Given the description of an element on the screen output the (x, y) to click on. 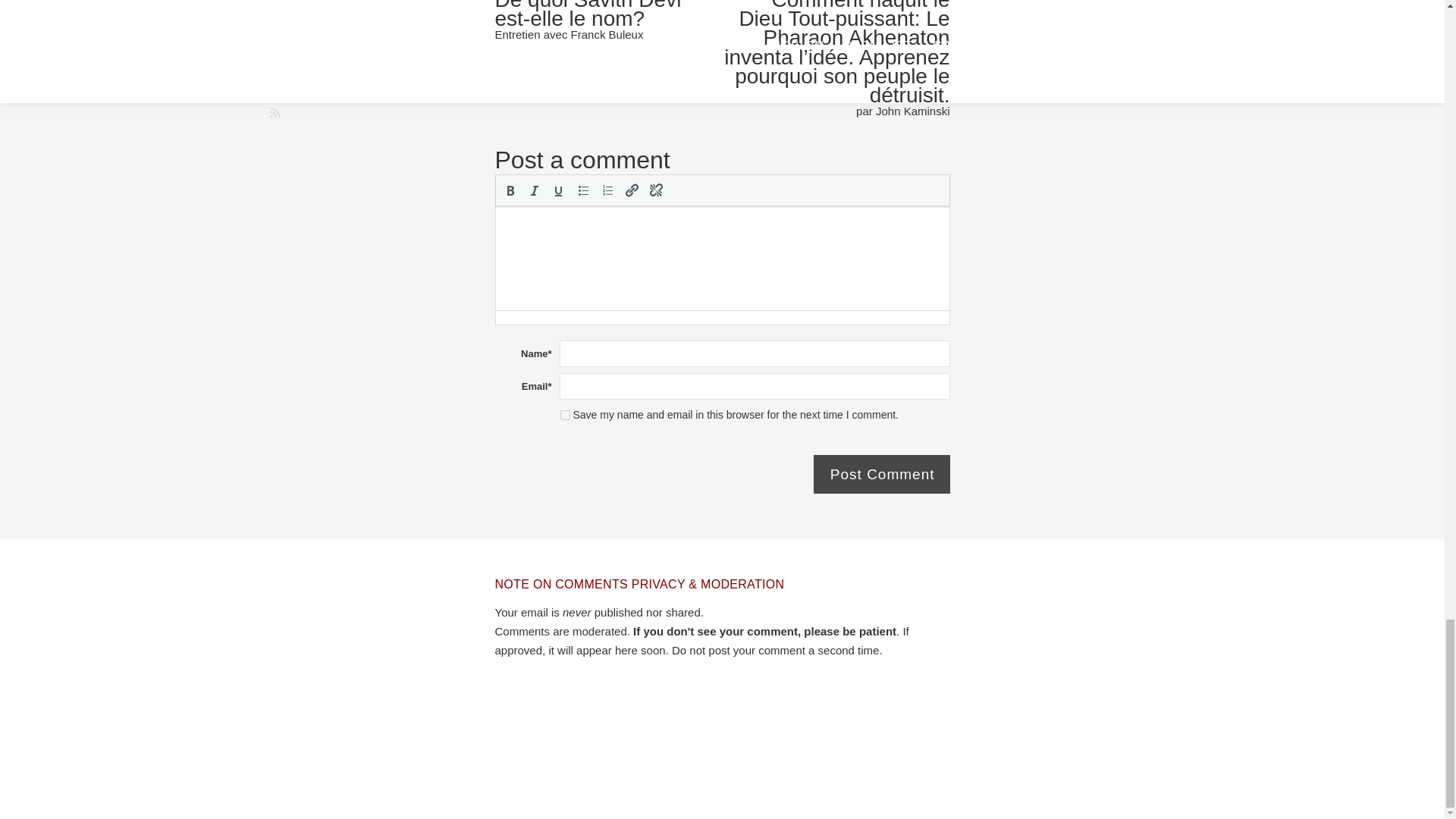
yes (564, 415)
Post Comment (881, 474)
Rich Text Area. Press Alt-Shift-H for help. (722, 258)
